Given the description of an element on the screen output the (x, y) to click on. 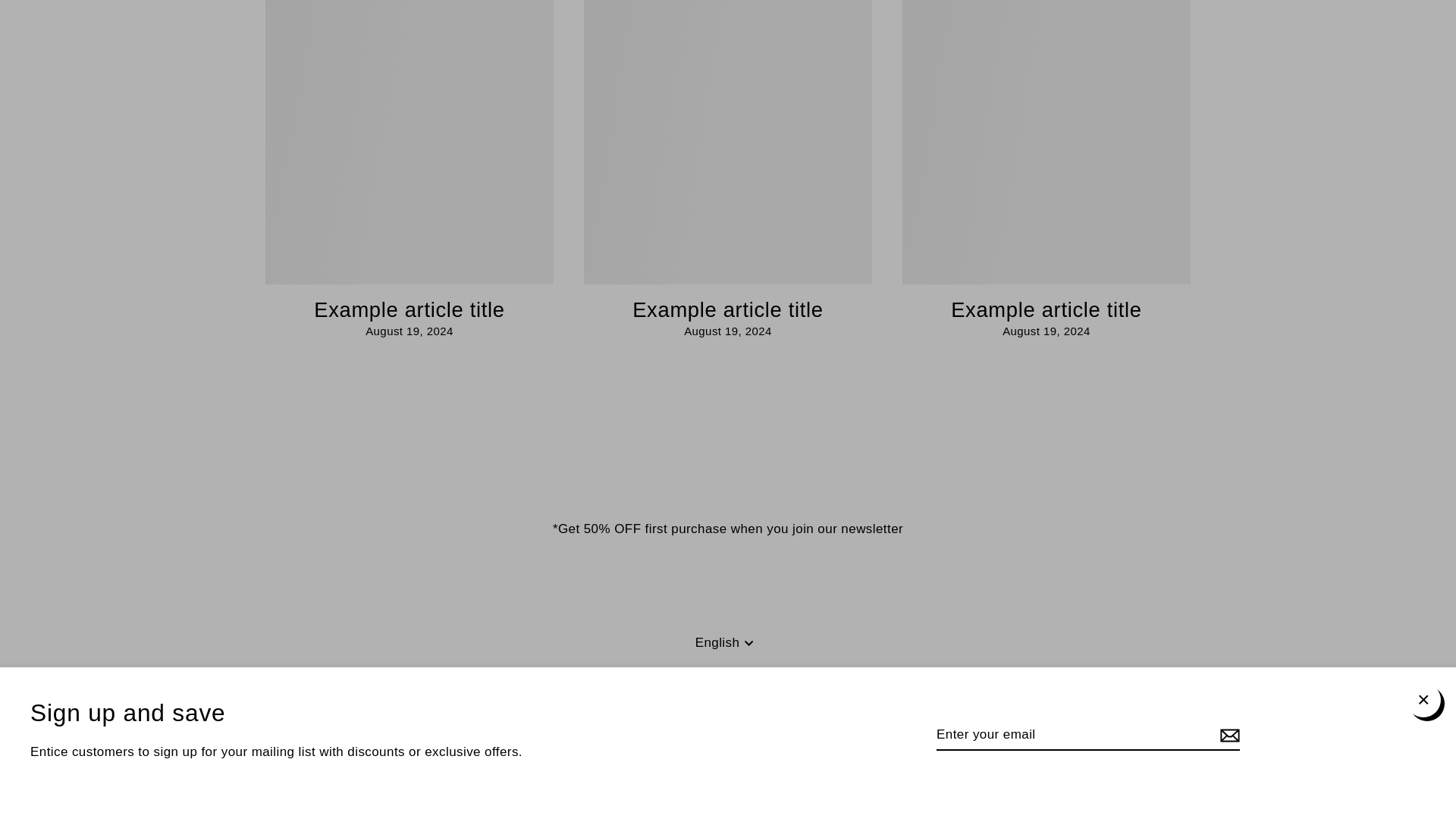
Discover (675, 781)
Diners Club (640, 781)
PayPal (779, 781)
instagram (702, 697)
American Express (605, 781)
Body Maxx on Instagram (702, 697)
JCB (710, 781)
Venmo (814, 781)
Mastercard (745, 781)
Visa (849, 781)
